Given the description of an element on the screen output the (x, y) to click on. 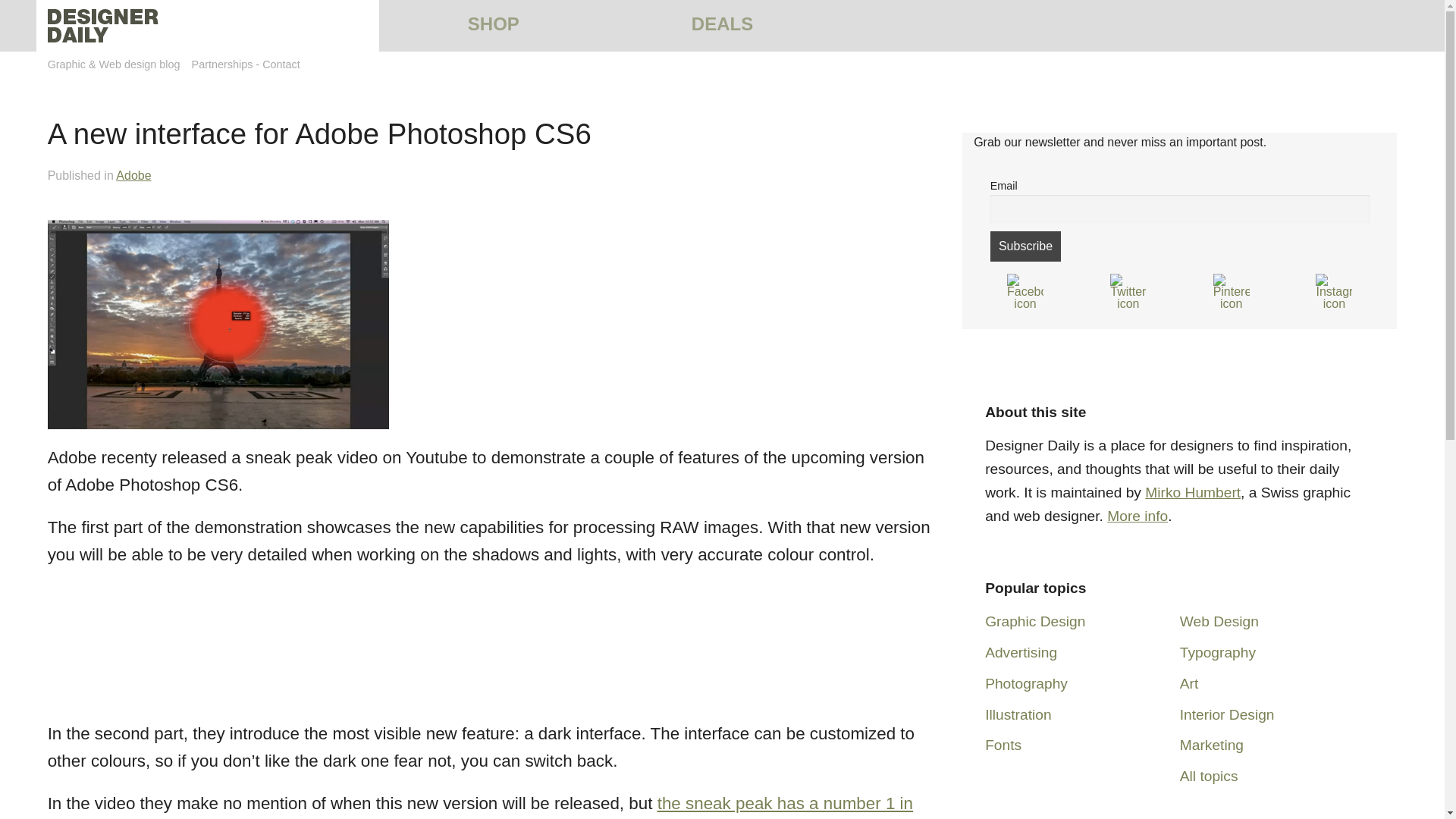
Portfolio of Mirko Humbert (1192, 492)
Contact (280, 64)
Art (1188, 683)
the sneak peak has a number 1 in the title (480, 806)
Typography posts (1217, 652)
Web Design (1219, 621)
Advertising posts (1021, 652)
Adobe (133, 174)
Typography (1217, 652)
Designer Daily shop (493, 24)
